Given the description of an element on the screen output the (x, y) to click on. 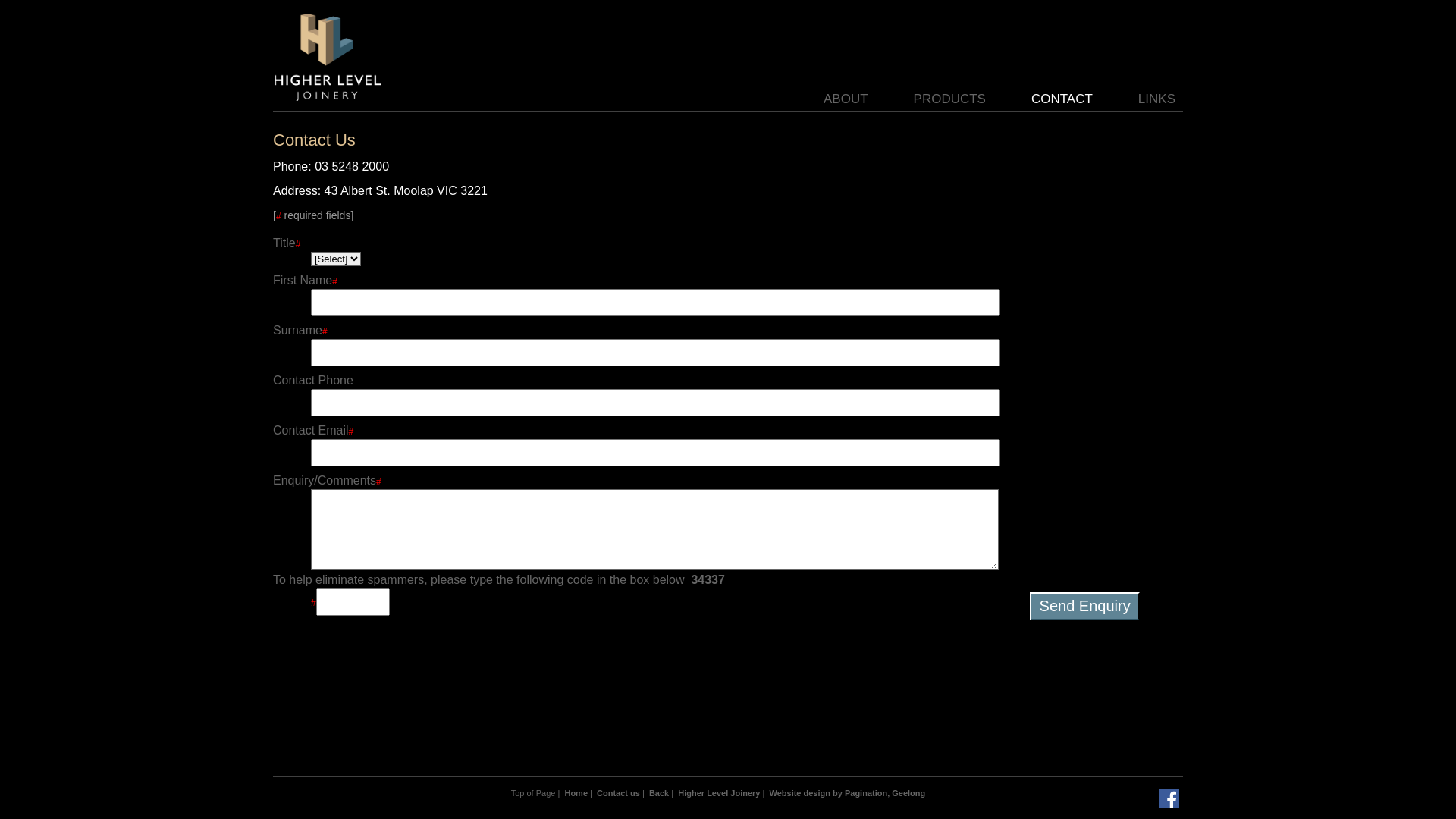
Higher Level Joinery Element type: text (718, 792)
Back Element type: text (658, 792)
 Send Enquiry  Element type: text (1084, 606)
Contact us Element type: text (618, 792)
Home Element type: text (575, 792)
Website design by Pagination, Geelong Element type: text (846, 792)
